Given the description of an element on the screen output the (x, y) to click on. 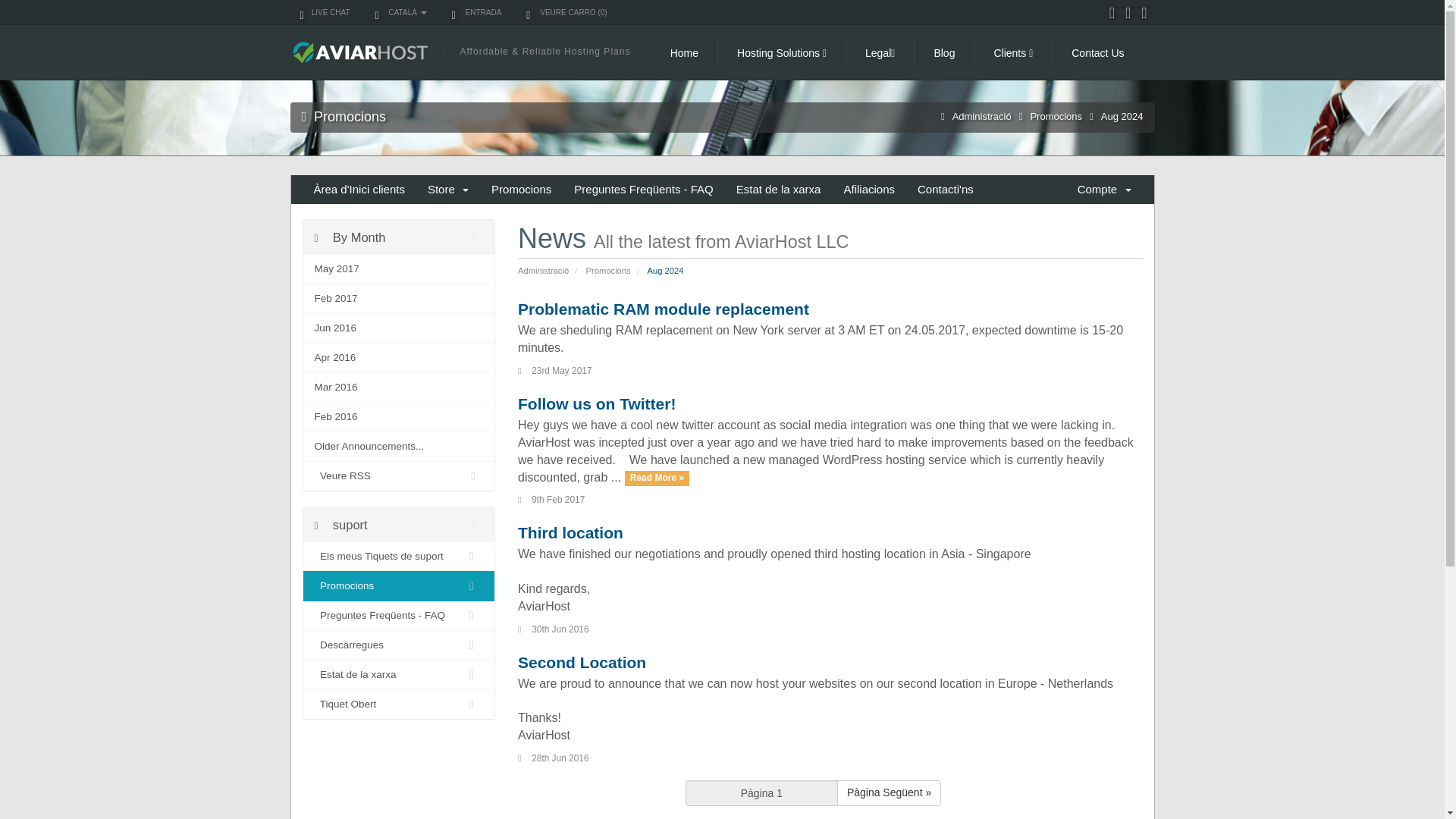
Home (684, 52)
Hosting Solutions (781, 52)
LIVE CHAT (319, 12)
ENTRADA (472, 12)
